Given the description of an element on the screen output the (x, y) to click on. 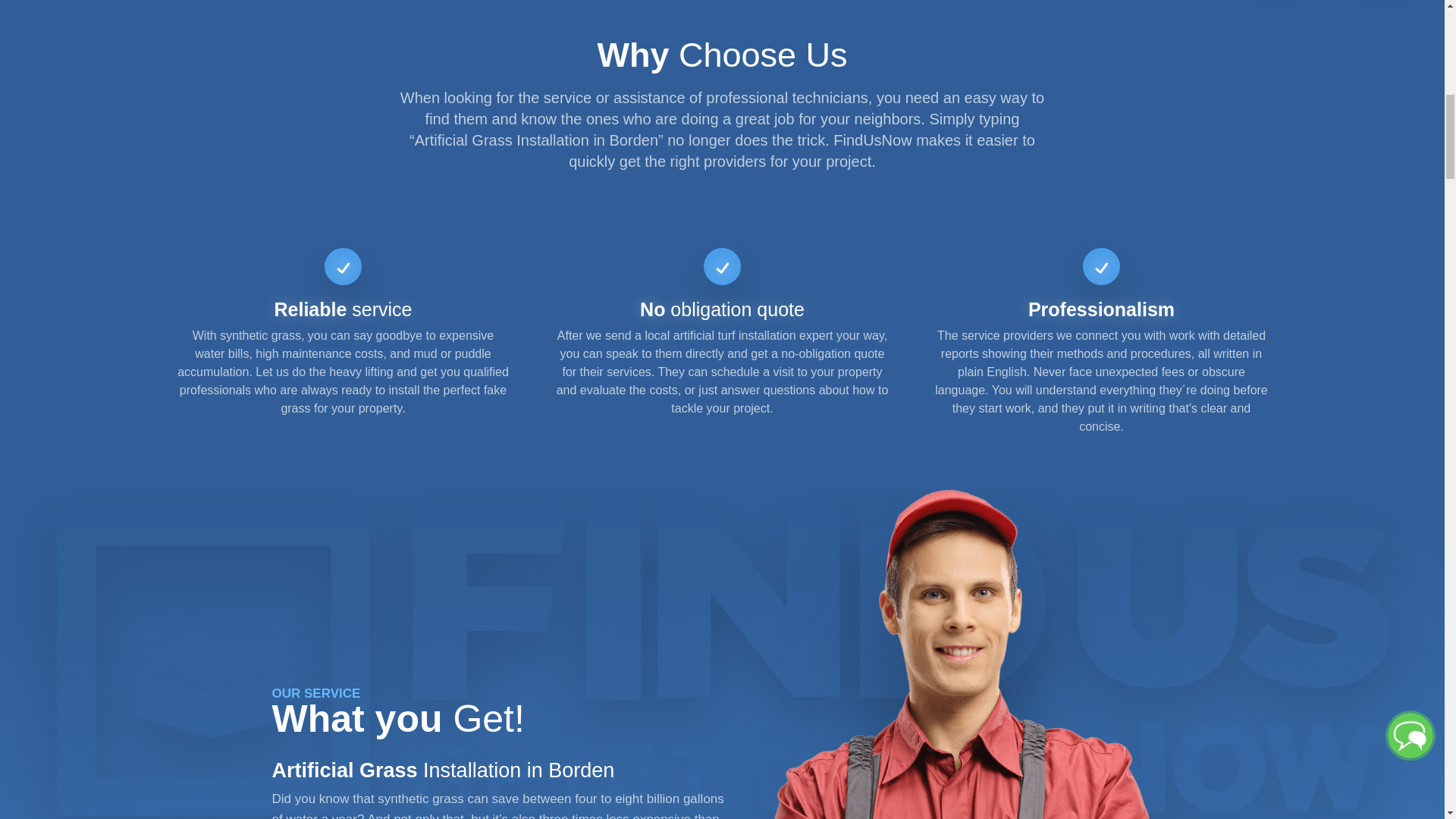
View more about our services (498, 789)
